Given the description of an element on the screen output the (x, y) to click on. 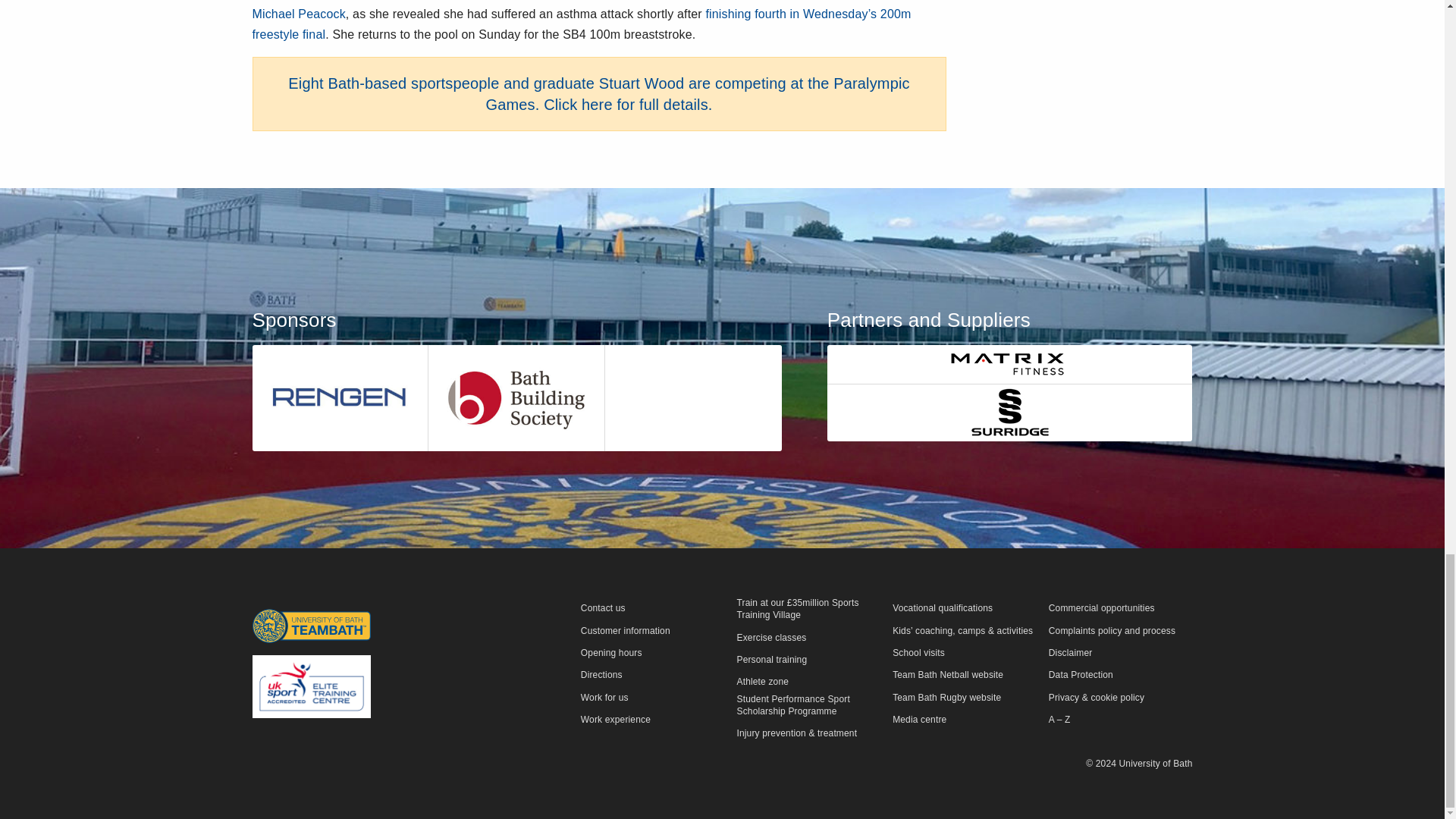
EIS coach Michael Peacock (593, 10)
